Given the description of an element on the screen output the (x, y) to click on. 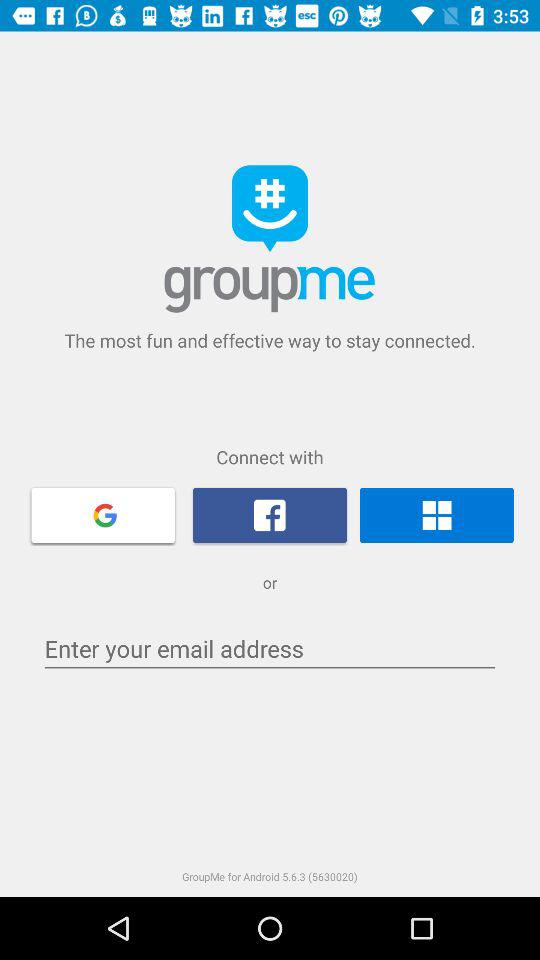
launch the icon on the left (103, 513)
